Given the description of an element on the screen output the (x, y) to click on. 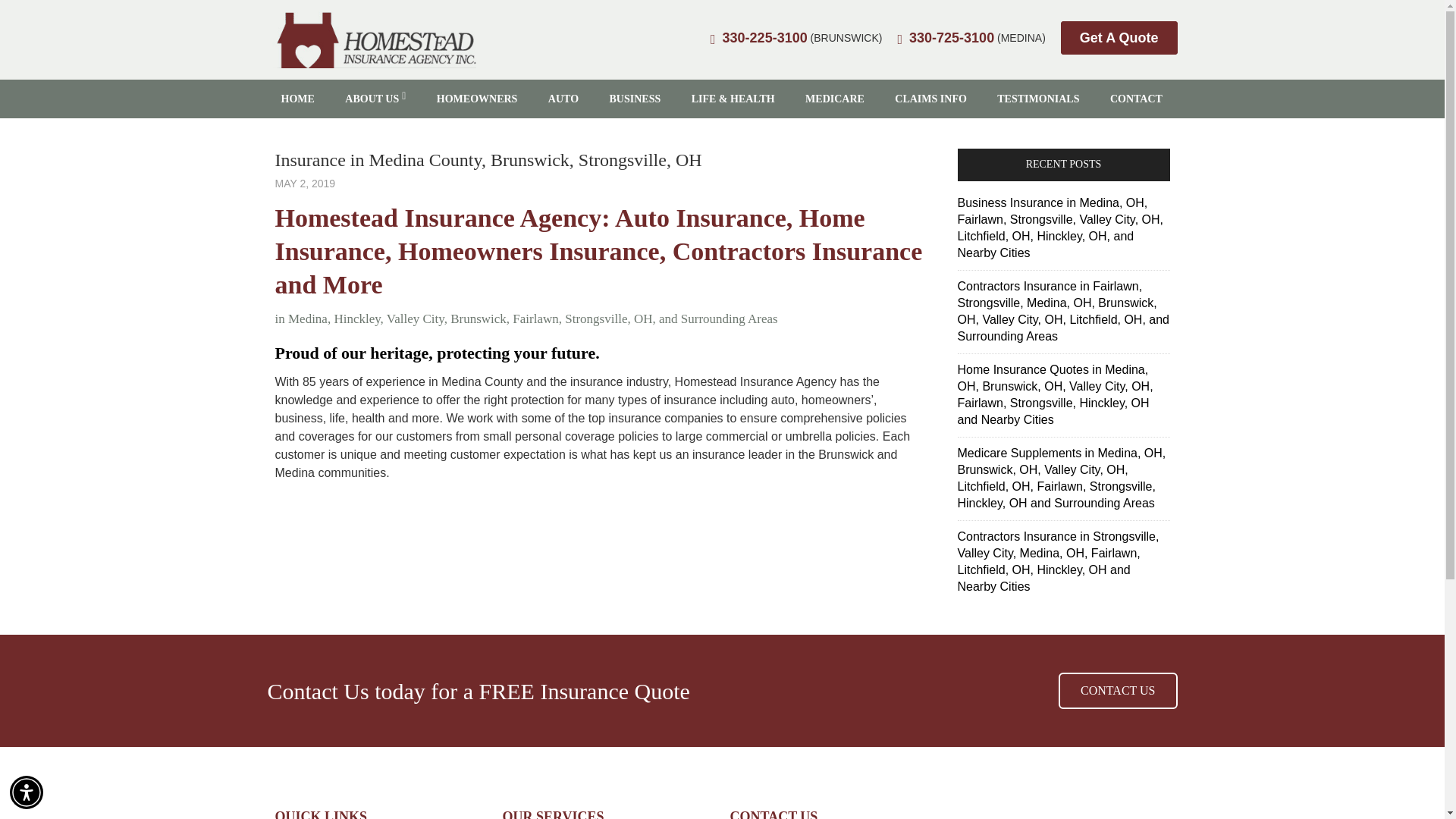
AUTO (563, 98)
CONTACT (1136, 98)
HOME (296, 98)
HOMEOWNERS (477, 98)
BUSINESS (635, 98)
CLAIMS INFO (929, 98)
Accessibility Menu (26, 792)
ABOUT US (375, 98)
CONTACT US (1117, 690)
TESTIMONIALS (1038, 98)
